Given the description of an element on the screen output the (x, y) to click on. 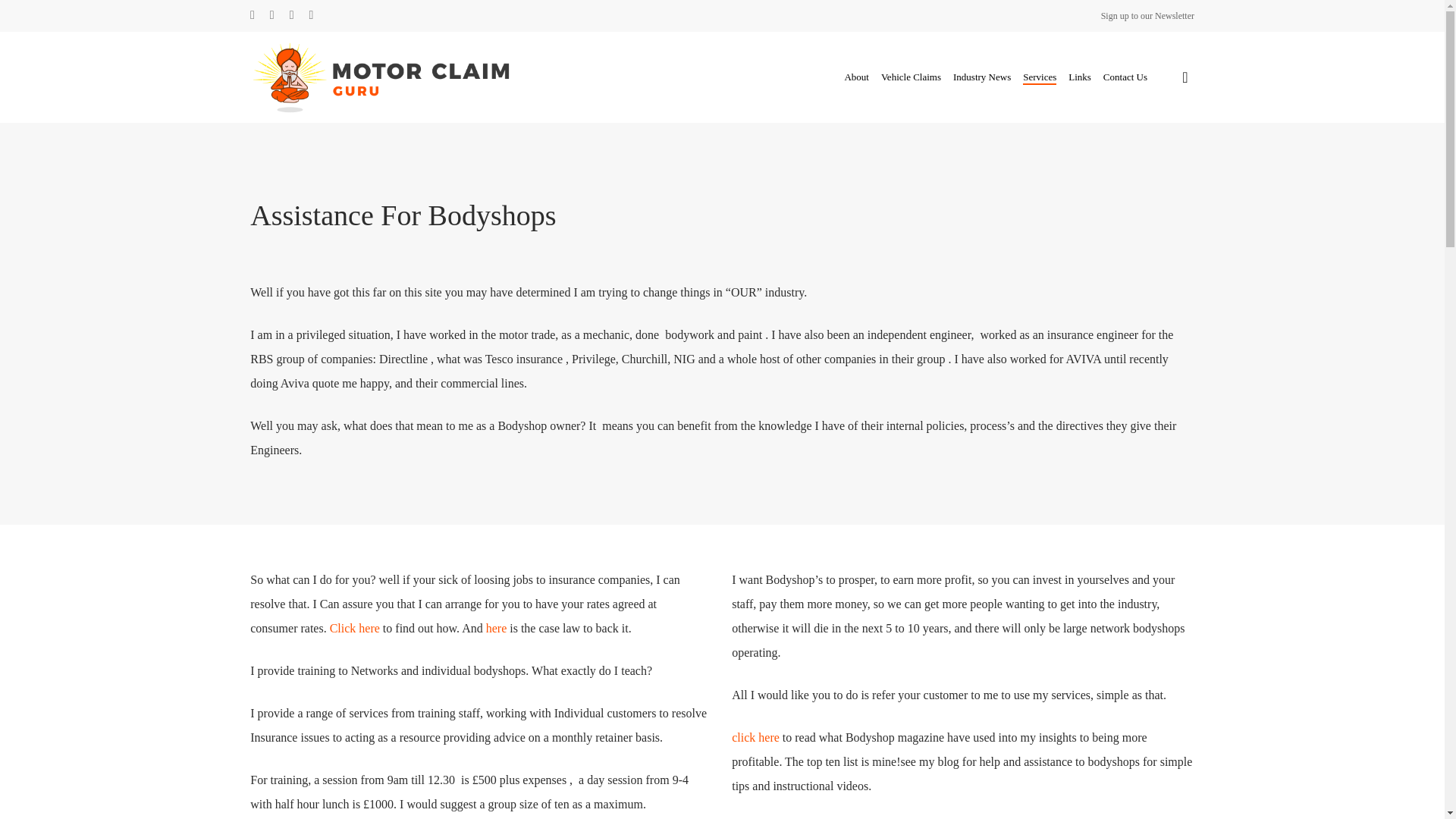
Industry News (981, 77)
Sign up to our Newsletter (1146, 15)
Vehicle Claims (910, 77)
About (856, 77)
